Given the description of an element on the screen output the (x, y) to click on. 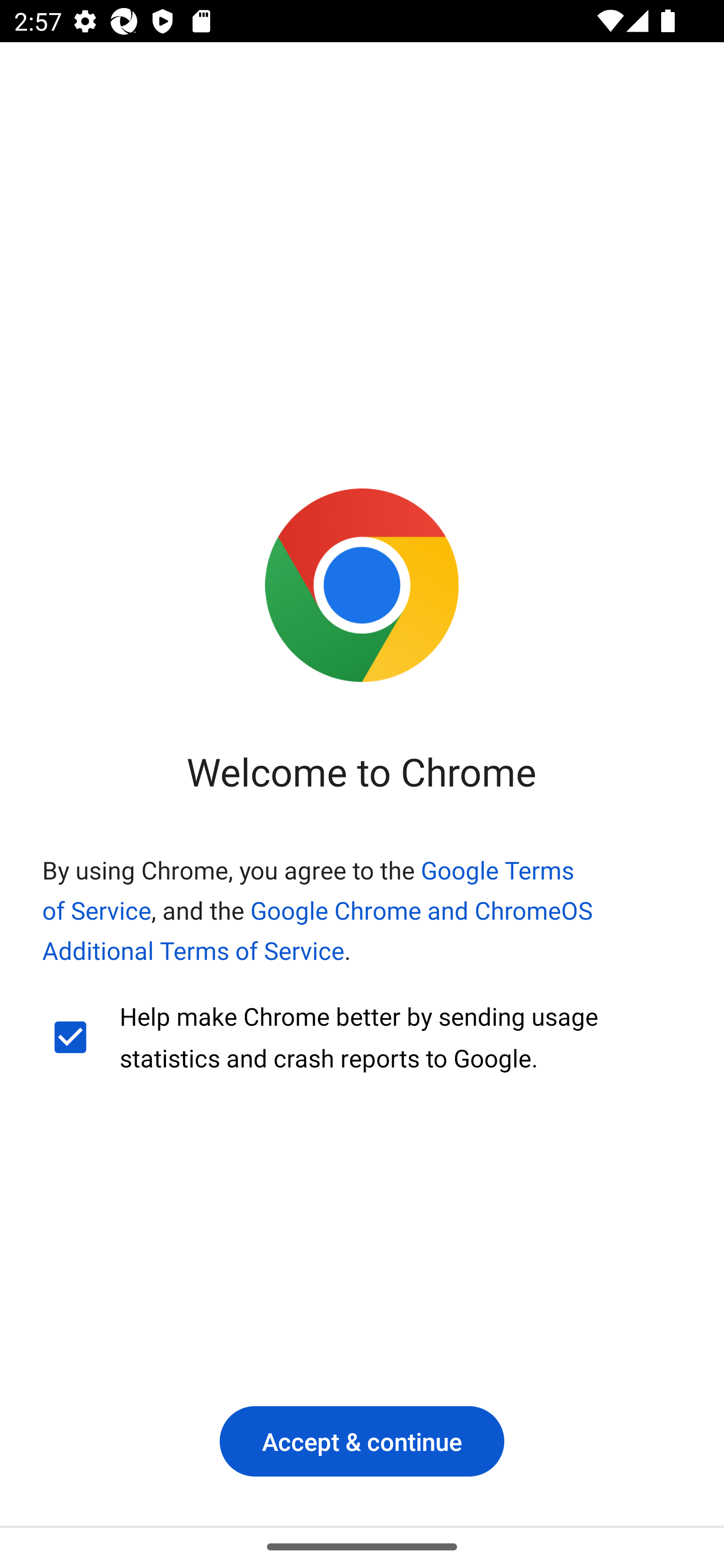
Accept & continue (361, 1440)
